Given the description of an element on the screen output the (x, y) to click on. 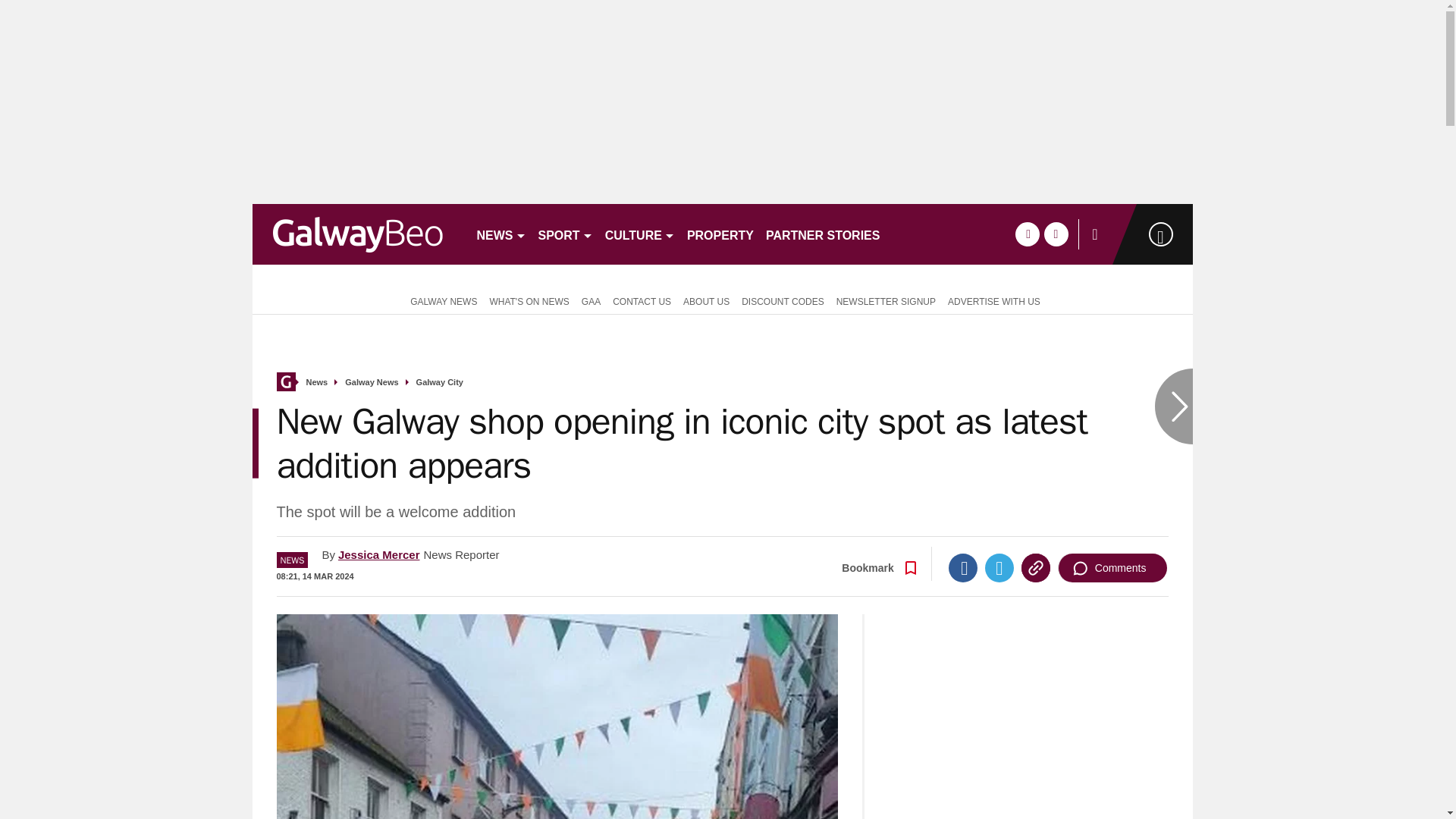
PROPERTY (720, 233)
PARTNER STORIES (823, 233)
Twitter (999, 567)
Galway News (371, 382)
GALWAY NEWS (440, 300)
CONTACT US (642, 300)
galwaybeo (357, 233)
News (317, 382)
NEWSLETTER SIGNUP (885, 300)
Galway City (439, 382)
